Given the description of an element on the screen output the (x, y) to click on. 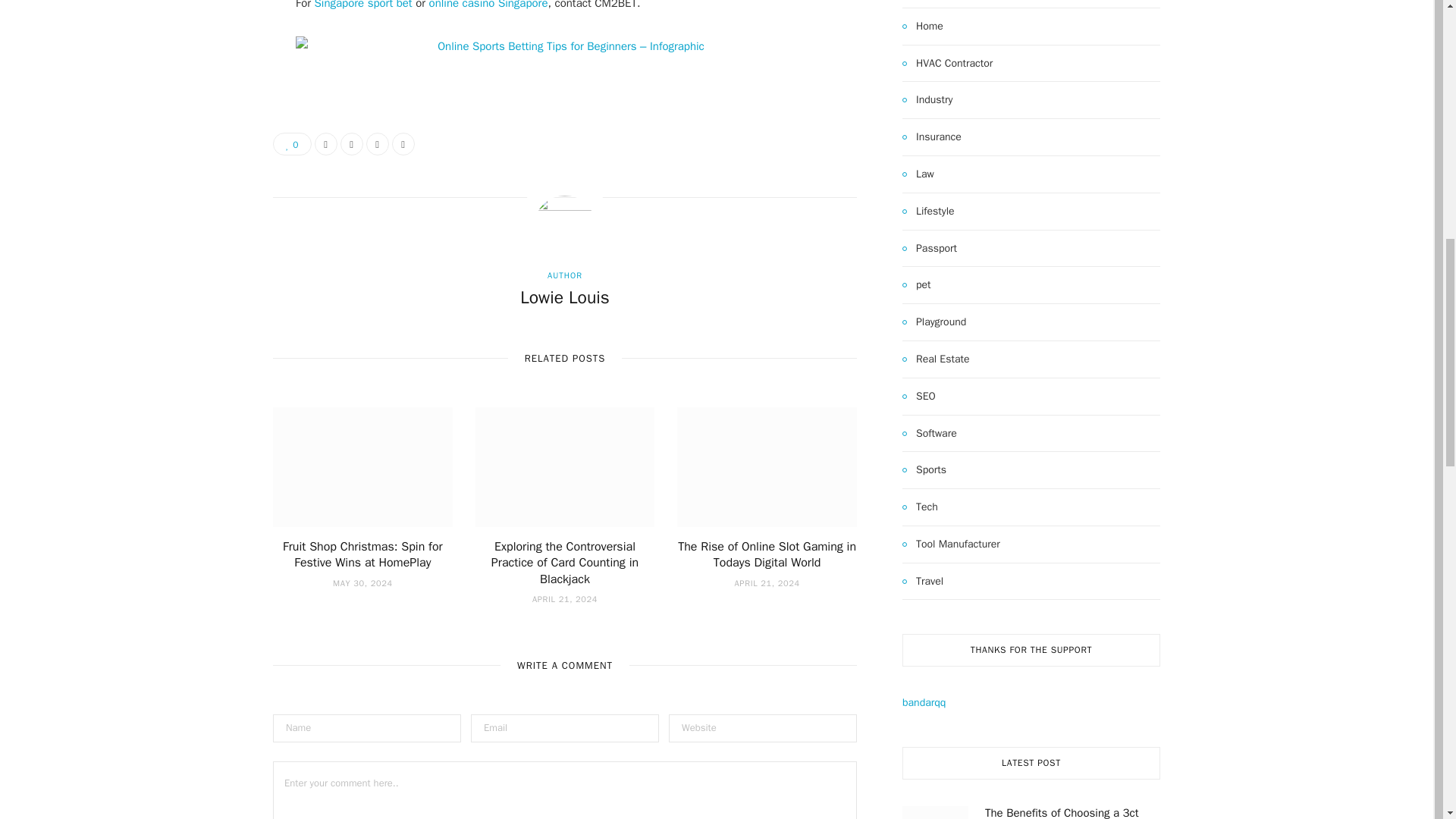
online sports betting (564, 46)
Email (402, 143)
Pinterest (377, 143)
Fruit Shop Christmas: Spin for Festive Wins at HomePlay (362, 554)
Singapore sport bet (363, 4)
MAY 30, 2024 (363, 583)
APRIL 21, 2024 (564, 598)
online casino Singapore (488, 4)
Posts by Lowie Louis (564, 297)
APRIL 21, 2024 (767, 583)
0 (292, 143)
Lowie Louis (564, 297)
Share on Twitter (351, 143)
The Rise of Online Slot Gaming in Todays Digital World (767, 554)
